Given the description of an element on the screen output the (x, y) to click on. 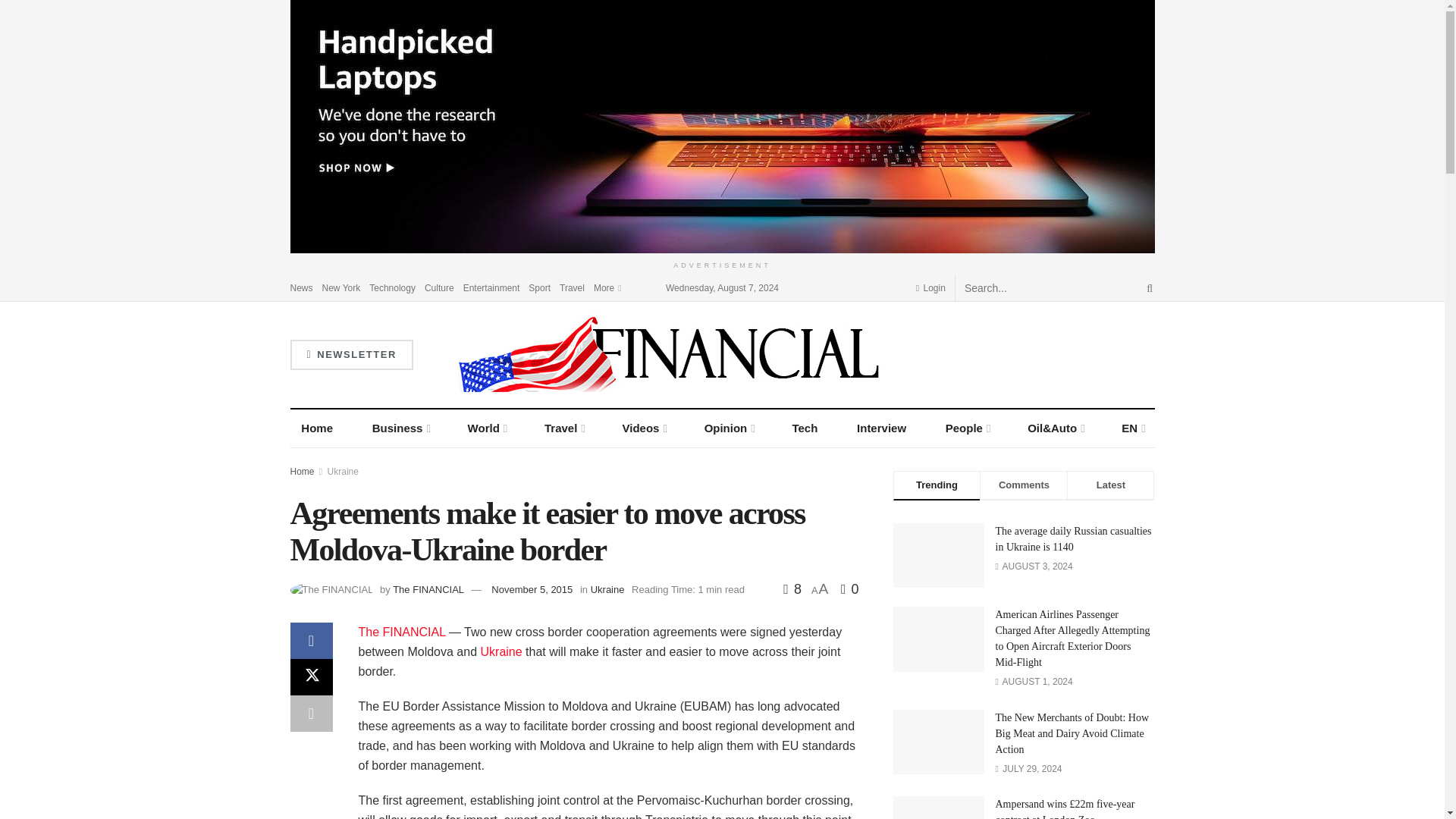
Technology (391, 287)
News (301, 287)
The FINANCIAL (401, 631)
Culture (439, 287)
More (607, 287)
Home (316, 428)
Ukraine (501, 651)
Sport (539, 287)
Travel (572, 287)
Login (929, 287)
NEWSLETTER (350, 354)
Entertainment (491, 287)
New York (341, 287)
Business (400, 428)
World (486, 428)
